Given the description of an element on the screen output the (x, y) to click on. 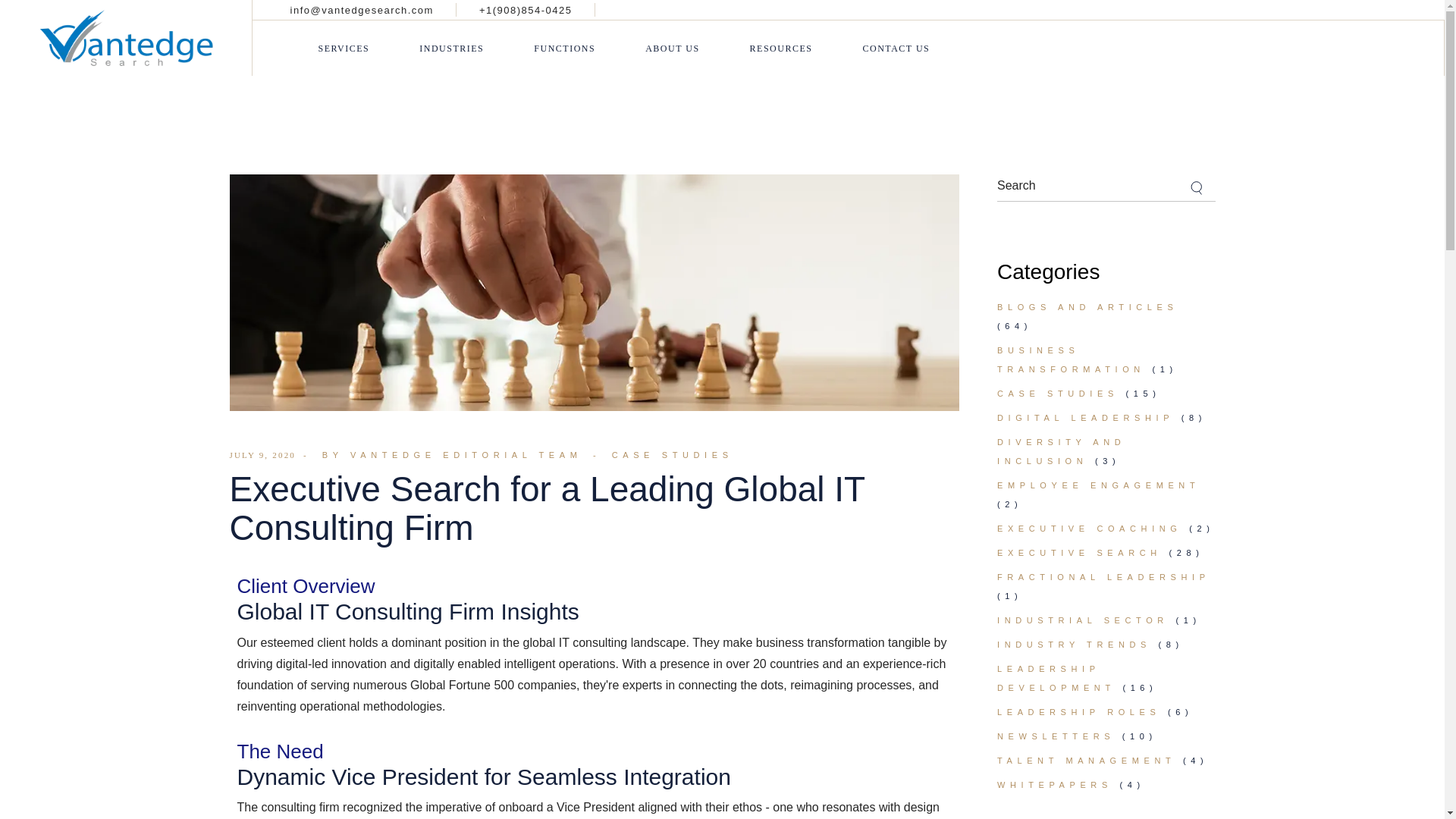
ABOUT US (671, 48)
SERVICES (343, 48)
FUNCTIONS (564, 48)
INDUSTRIES (451, 48)
RESOURCES (780, 48)
